Given the description of an element on the screen output the (x, y) to click on. 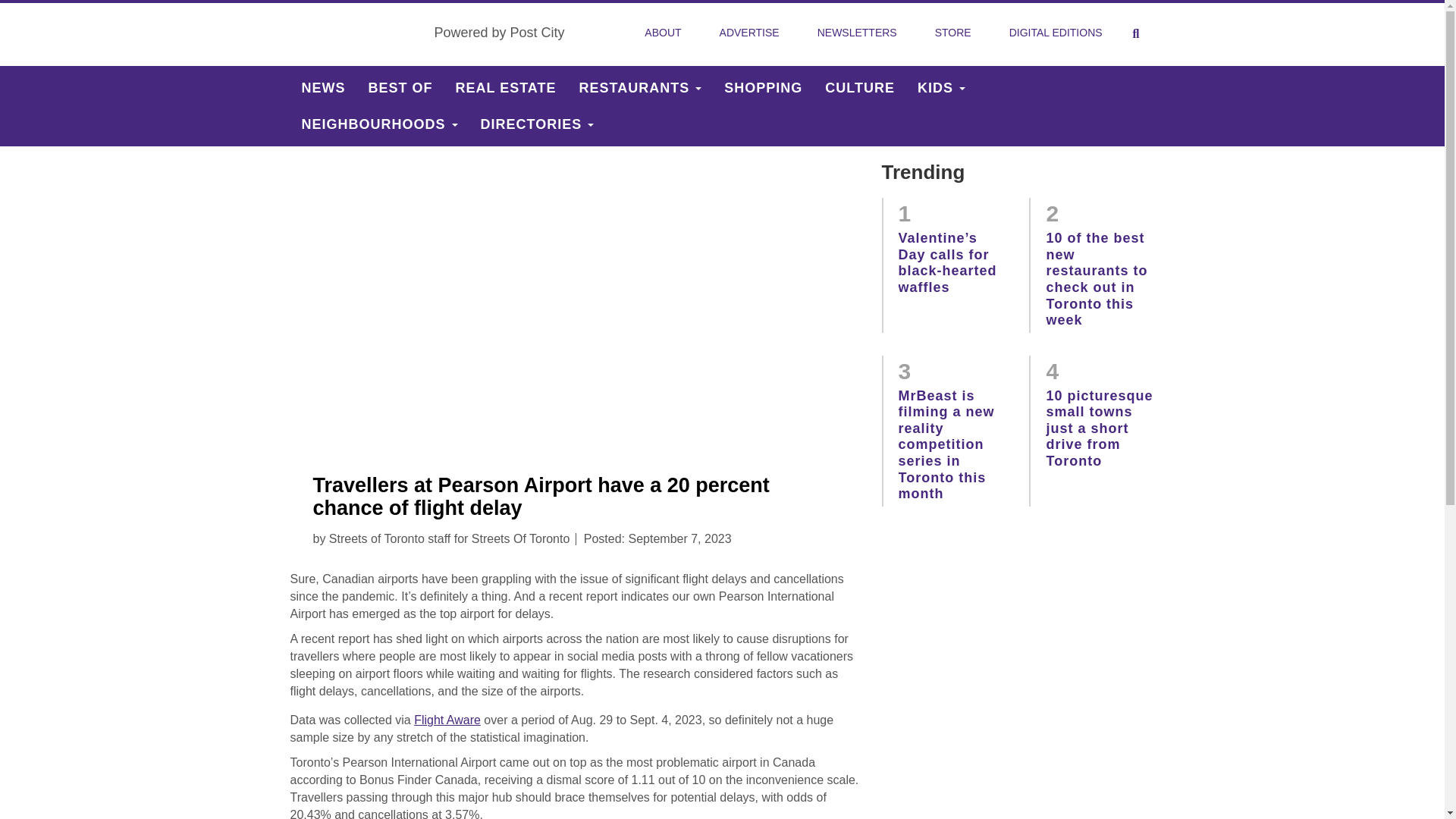
BEST OF (400, 87)
STORE (953, 32)
DIGITAL EDITIONS (1056, 32)
RESTAURANTS (640, 87)
Streets Of Toronto (355, 33)
REAL ESTATE (505, 87)
NEWSLETTERS (857, 32)
CULTURE (859, 87)
SHOPPING (763, 87)
NEWS (322, 87)
